Given the description of an element on the screen output the (x, y) to click on. 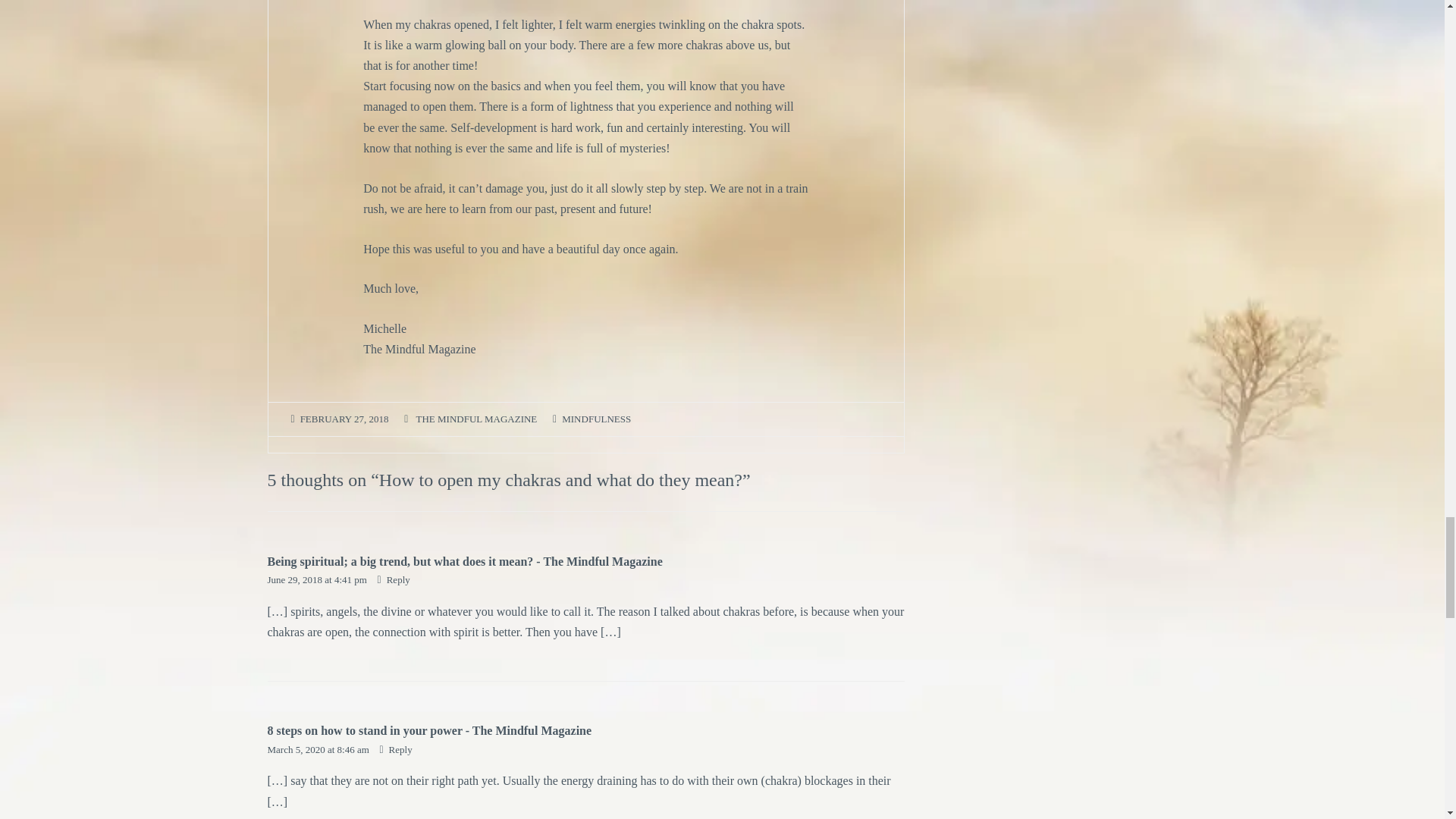
THE MINDFUL MAGAZINE (475, 419)
MINDFULNESS (596, 419)
Reply (393, 579)
Reply (395, 749)
March 5, 2020 at 8:46 am (318, 749)
8 steps on how to stand in your power - The Mindful Magazine (428, 730)
June 29, 2018 at 4:41 pm (317, 579)
FEBRUARY 27, 2018 (343, 419)
